Given the description of an element on the screen output the (x, y) to click on. 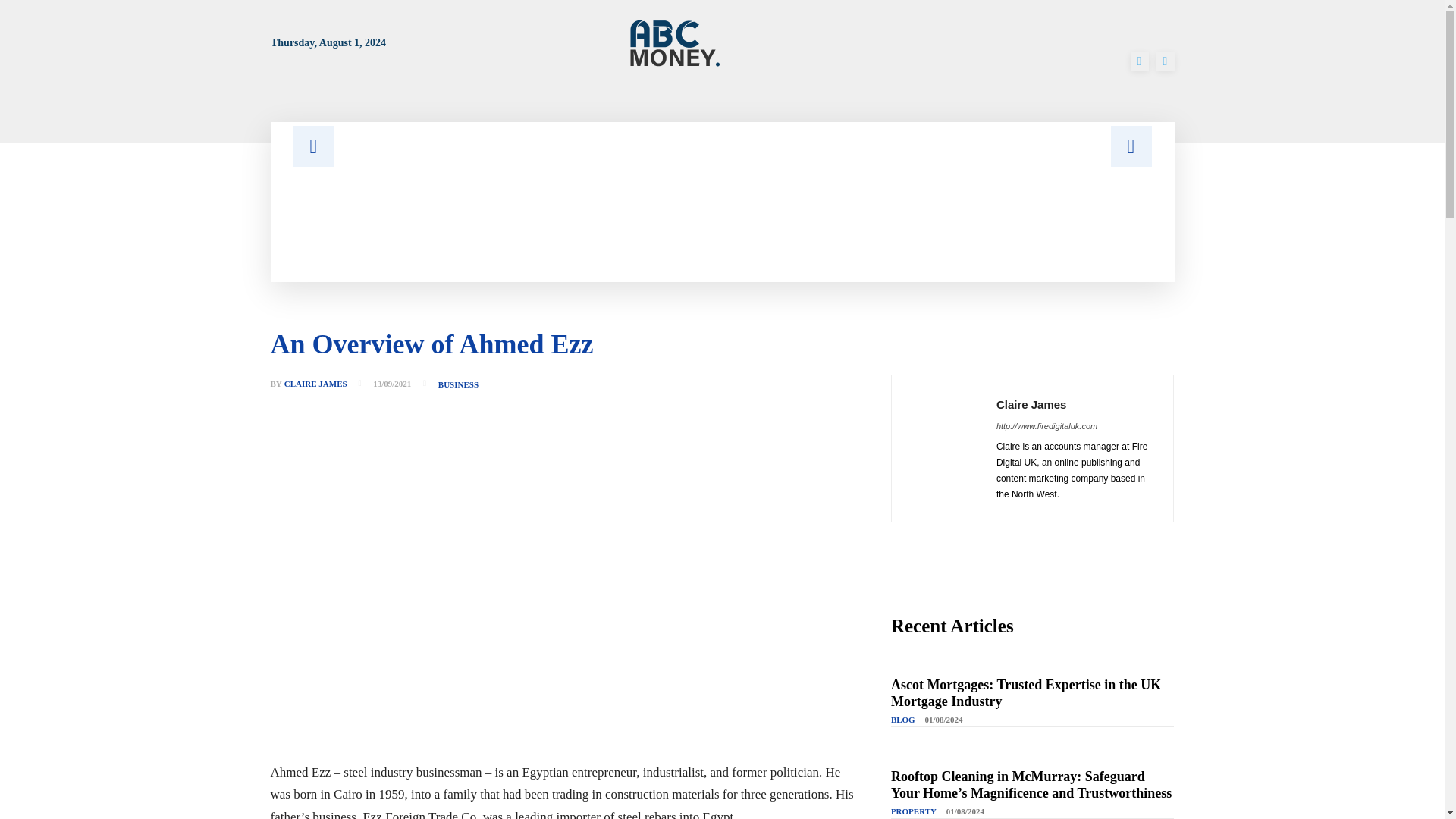
Twitter (1164, 60)
BUSINESS (458, 384)
Facebook (1138, 60)
CLAIRE JAMES (315, 384)
